Given the description of an element on the screen output the (x, y) to click on. 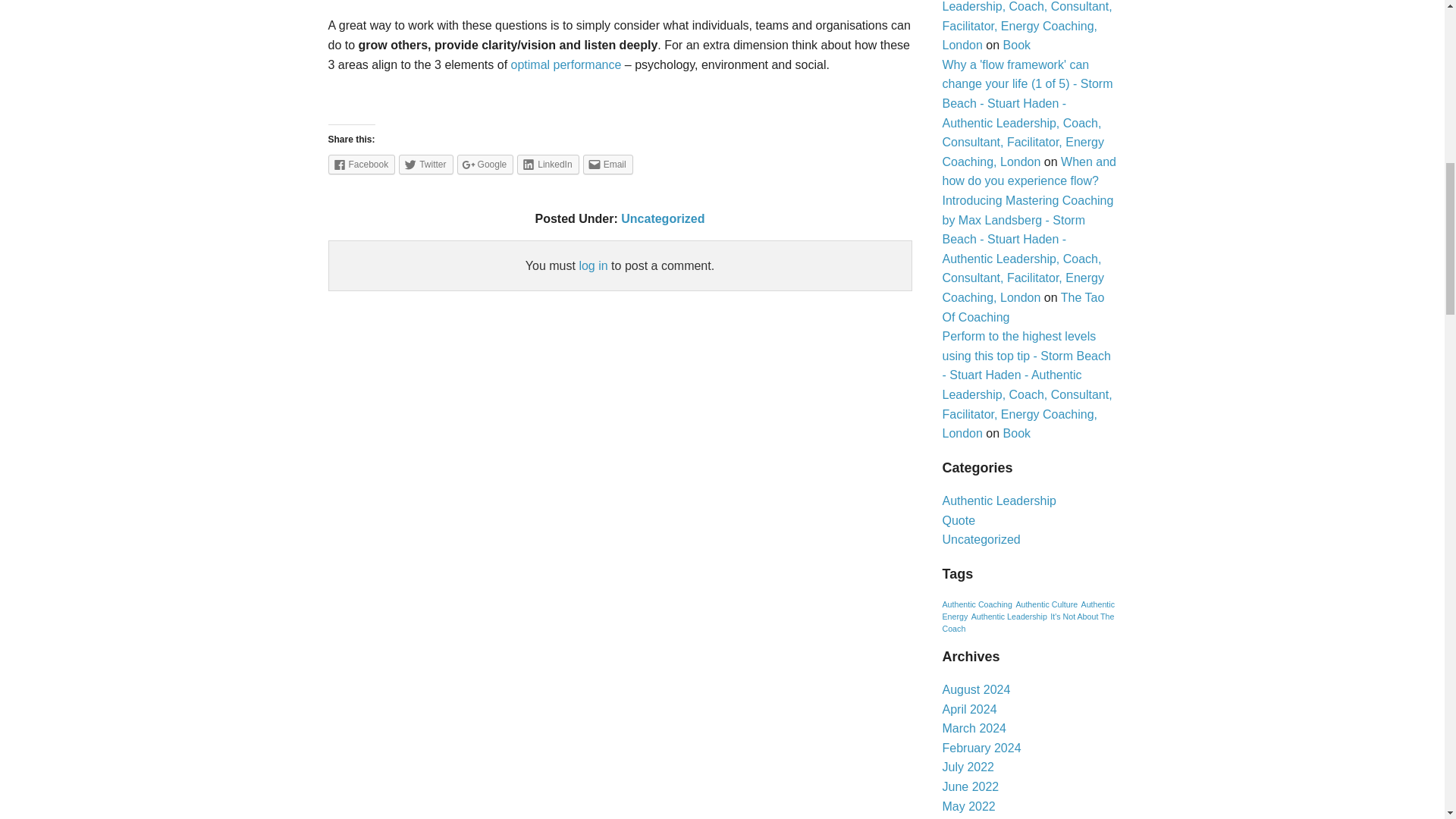
2 topics (1008, 615)
2 topics (1028, 609)
2 topics (976, 604)
Click to share on Facebook (360, 164)
Email (608, 164)
Twitter (425, 164)
Click to share on LinkedIn (547, 164)
2 topics (1045, 604)
Click to share on Twitter (425, 164)
